Given the description of an element on the screen output the (x, y) to click on. 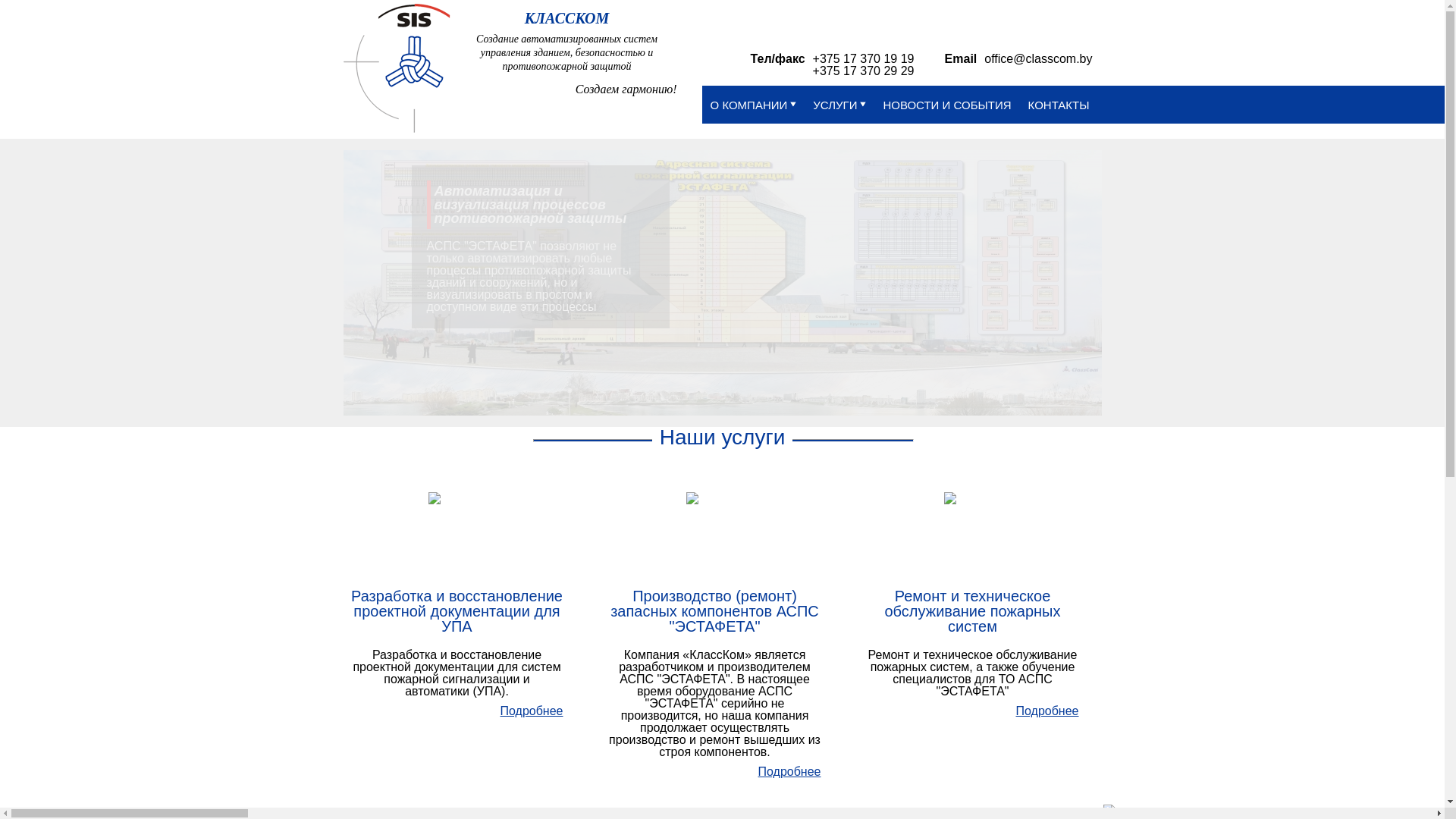
7 Element type: text (676, 397)
18 Element type: text (801, 397)
6 Element type: text (665, 397)
20 Element type: text (824, 397)
5 Element type: text (653, 397)
10 Element type: text (710, 397)
14 Element type: text (756, 397)
9 Element type: text (699, 397)
19 Element type: text (813, 397)
11 Element type: text (722, 397)
15 Element type: text (767, 397)
17 Element type: text (790, 397)
1 Element type: text (608, 397)
12 Element type: text (733, 397)
13 Element type: text (744, 397)
16 Element type: text (778, 397)
4 Element type: text (642, 397)
21 Element type: text (835, 397)
8 Element type: text (687, 397)
3 Element type: text (631, 397)
2 Element type: text (619, 397)
